Given the description of an element on the screen output the (x, y) to click on. 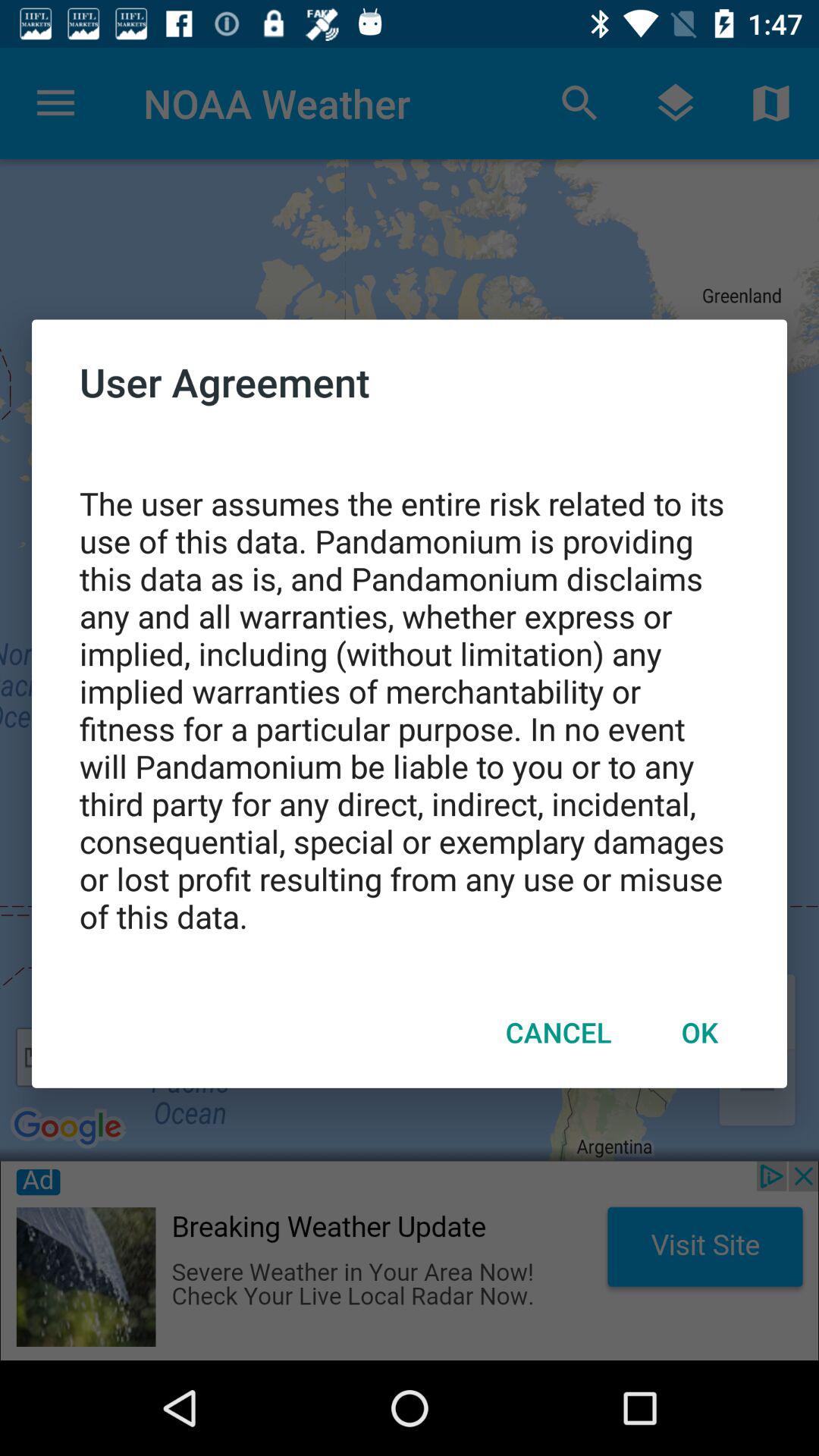
flip to ok icon (699, 1032)
